Given the description of an element on the screen output the (x, y) to click on. 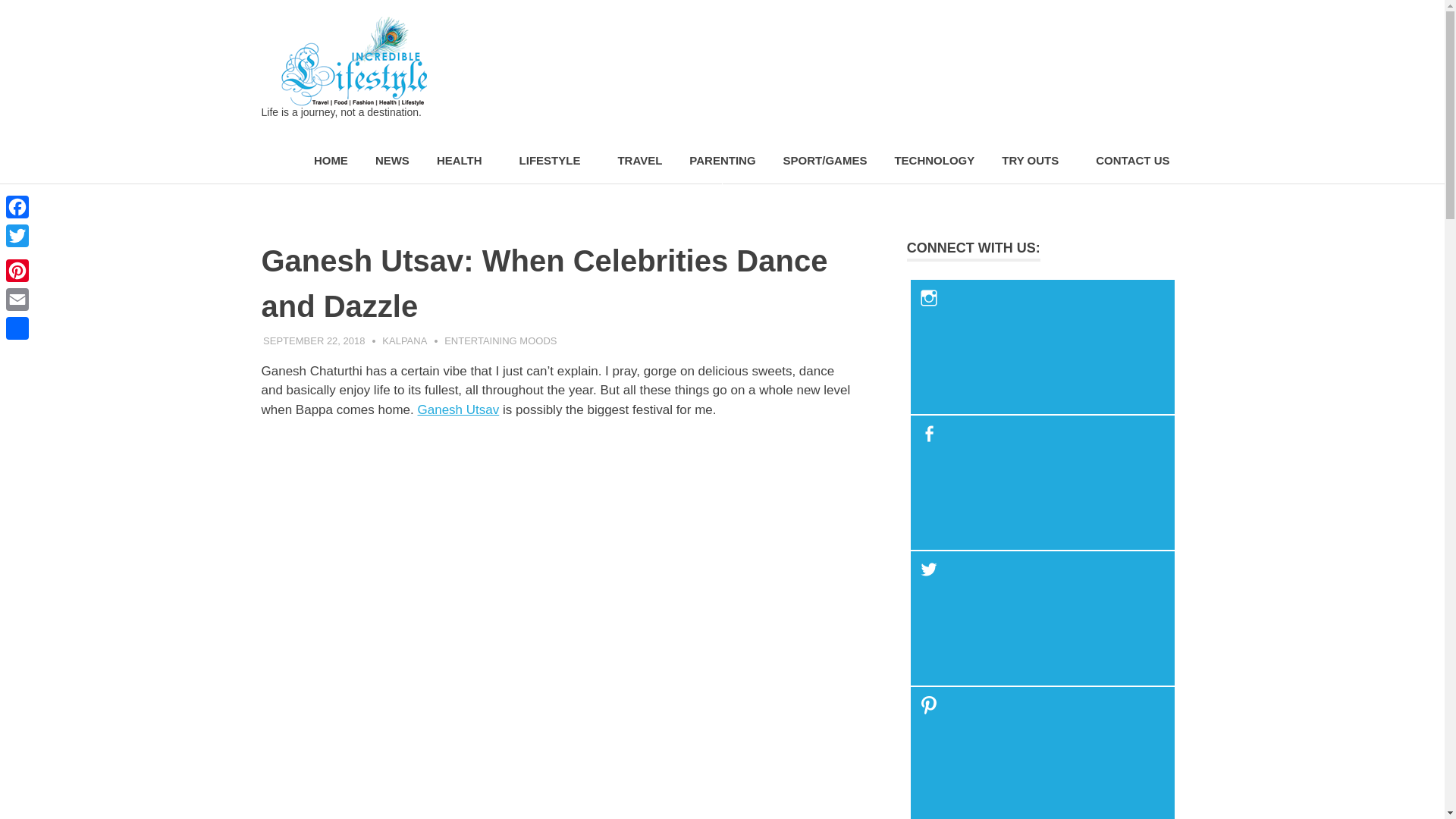
CONTACT US (1131, 160)
HEALTH (464, 160)
HOME (330, 160)
ENTERTAINING MOODS (500, 340)
LIFESTYLE (554, 160)
Ganesh Utsav (458, 409)
View all posts by Kalpana (403, 340)
Pinterest (17, 270)
TRY OUTS (1034, 160)
9:15 am (314, 340)
